Given the description of an element on the screen output the (x, y) to click on. 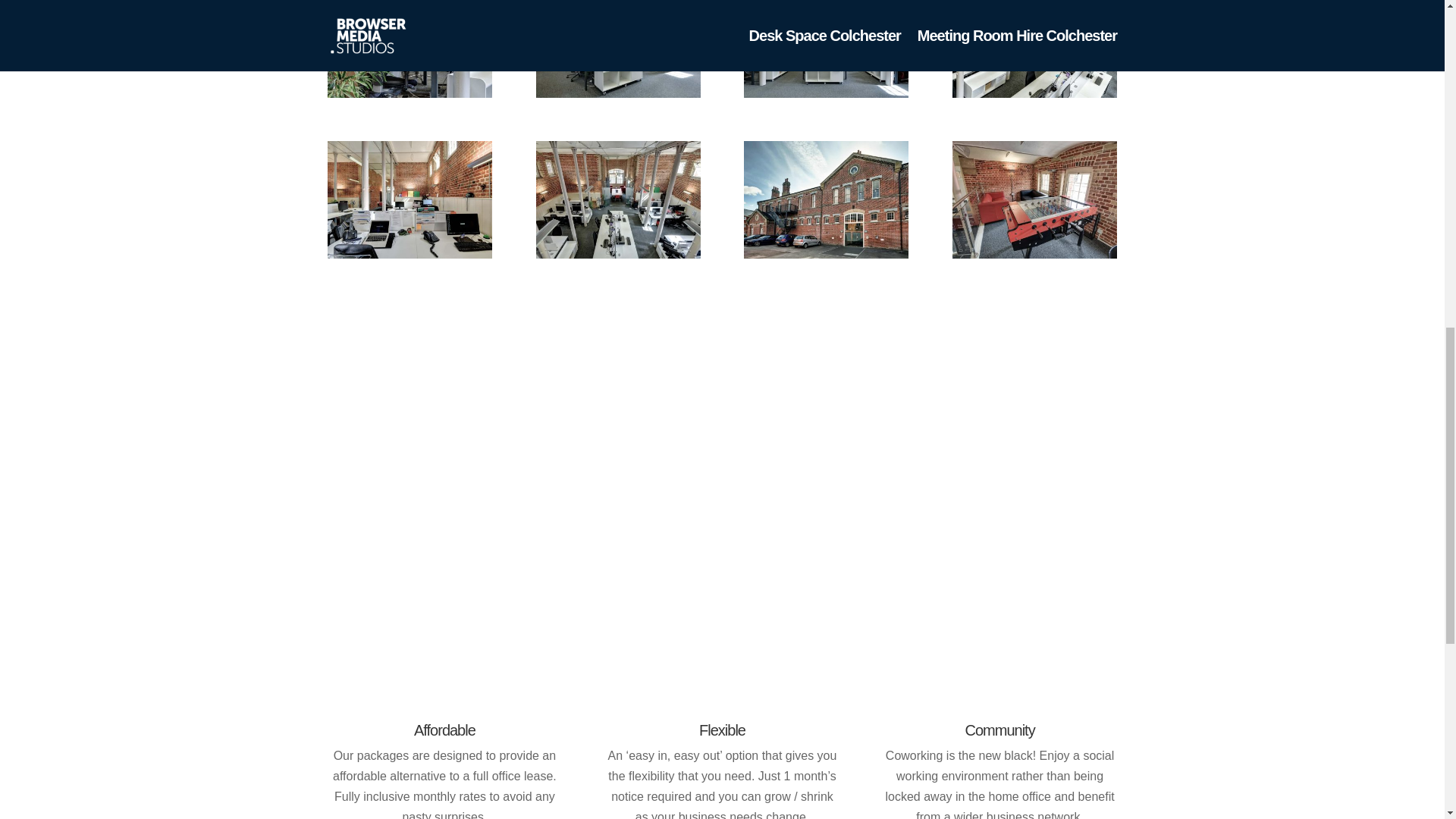
Browser Media Studios Desk Space (409, 92)
Browser Media Studios Desk Space (409, 254)
Browser Media Studios Desk Space (617, 254)
Browser Media External (826, 254)
Browser Media Studios Desk Space (617, 92)
Browser Media Studios Desk Space (1034, 92)
Browser Media Studios Desk Space (826, 92)
Browser Media Studios Table Football (1034, 254)
